Given the description of an element on the screen output the (x, y) to click on. 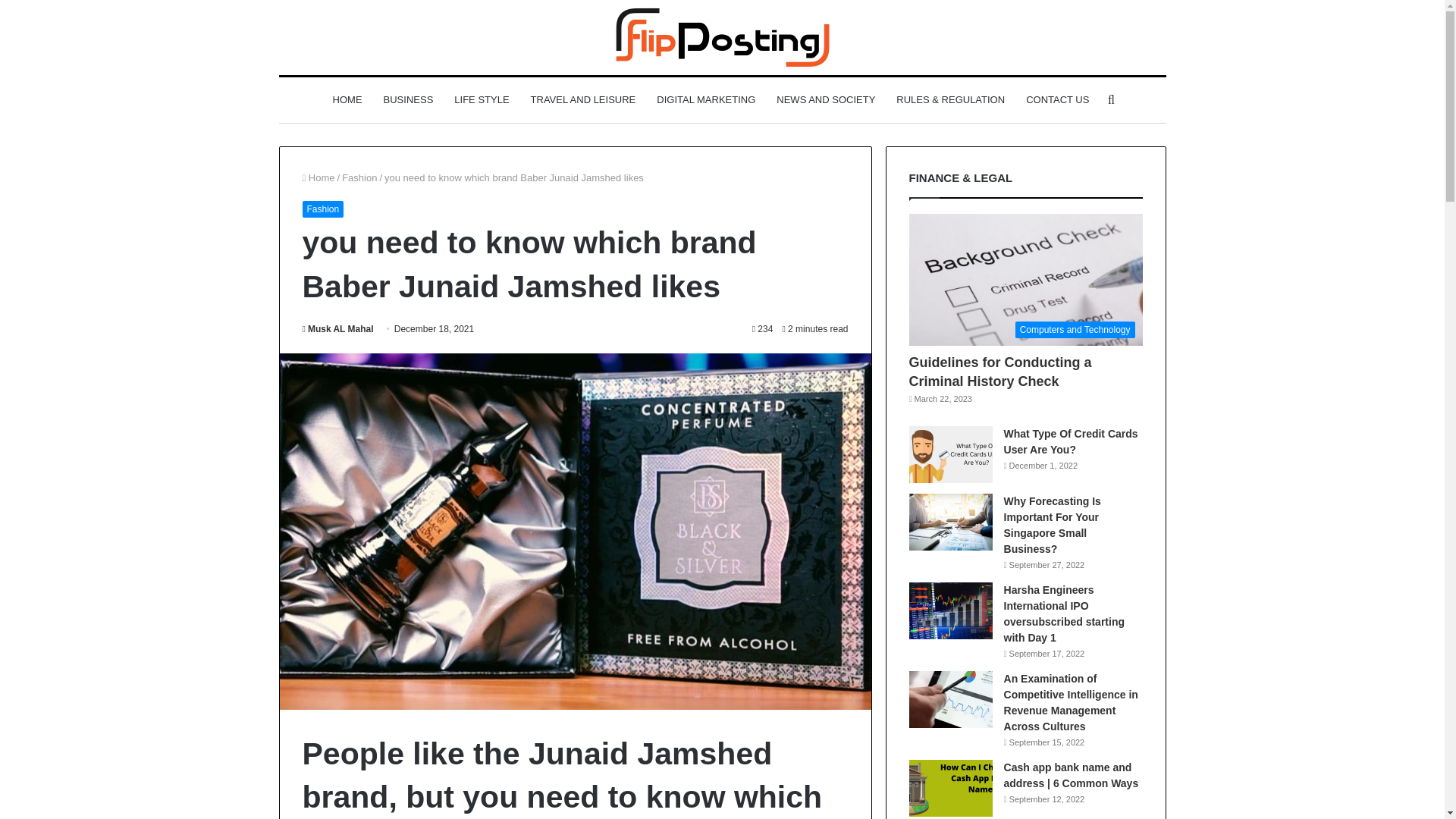
BUSINESS (408, 99)
Computers and Technology (1025, 279)
Fashion (359, 177)
NEWS AND SOCIETY (825, 99)
LIFE STYLE (481, 99)
CONTACT US (1056, 99)
Fashion (322, 208)
Musk AL Mahal (336, 328)
Musk AL Mahal (336, 328)
Guidelines for Conducting a Criminal History Check (1000, 371)
HOME (346, 99)
DIGITAL MARKETING (705, 99)
TRAVEL AND LEISURE (582, 99)
Home (317, 177)
Flip Posting (722, 37)
